Given the description of an element on the screen output the (x, y) to click on. 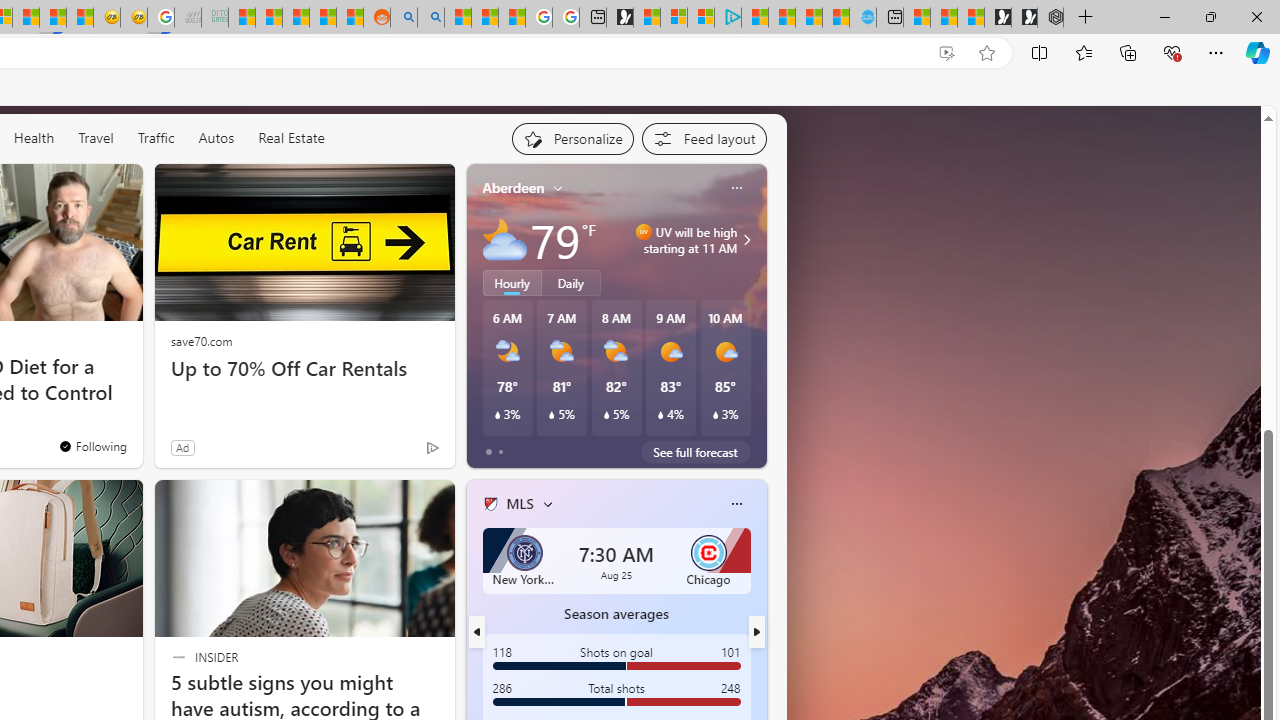
Daily (571, 282)
Class: weather-arrow-glyph (746, 240)
